Given the description of an element on the screen output the (x, y) to click on. 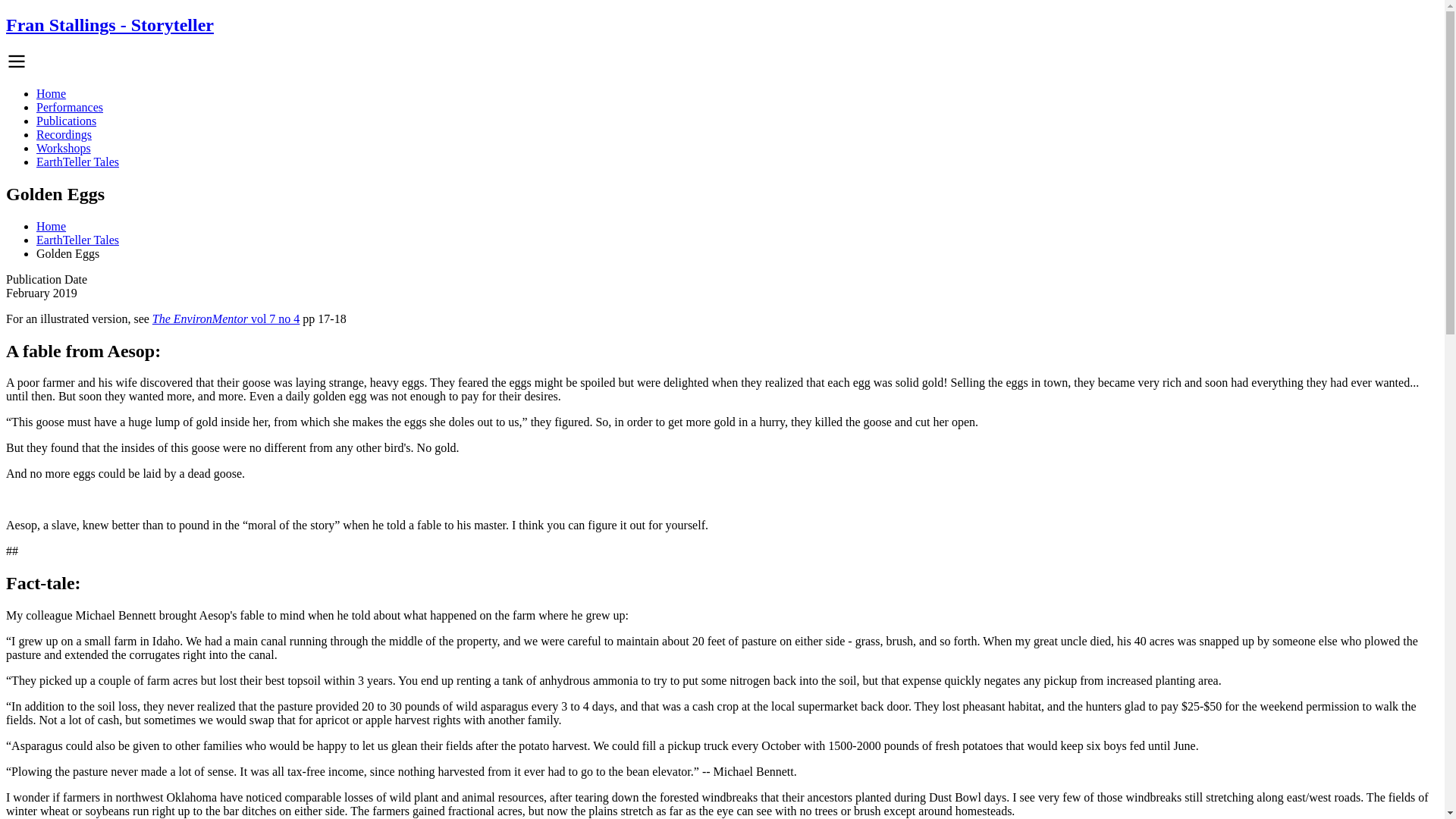
Recordings (63, 133)
Home (50, 226)
Performances (69, 106)
Publications (66, 120)
EarthTeller Tales (77, 161)
Fran Stallings - Storyteller (109, 25)
The EnvironMentor vol 7 no 4 (225, 318)
EarthTeller Tales (77, 239)
Home (109, 25)
Workshops (63, 147)
Home (50, 92)
